Given the description of an element on the screen output the (x, y) to click on. 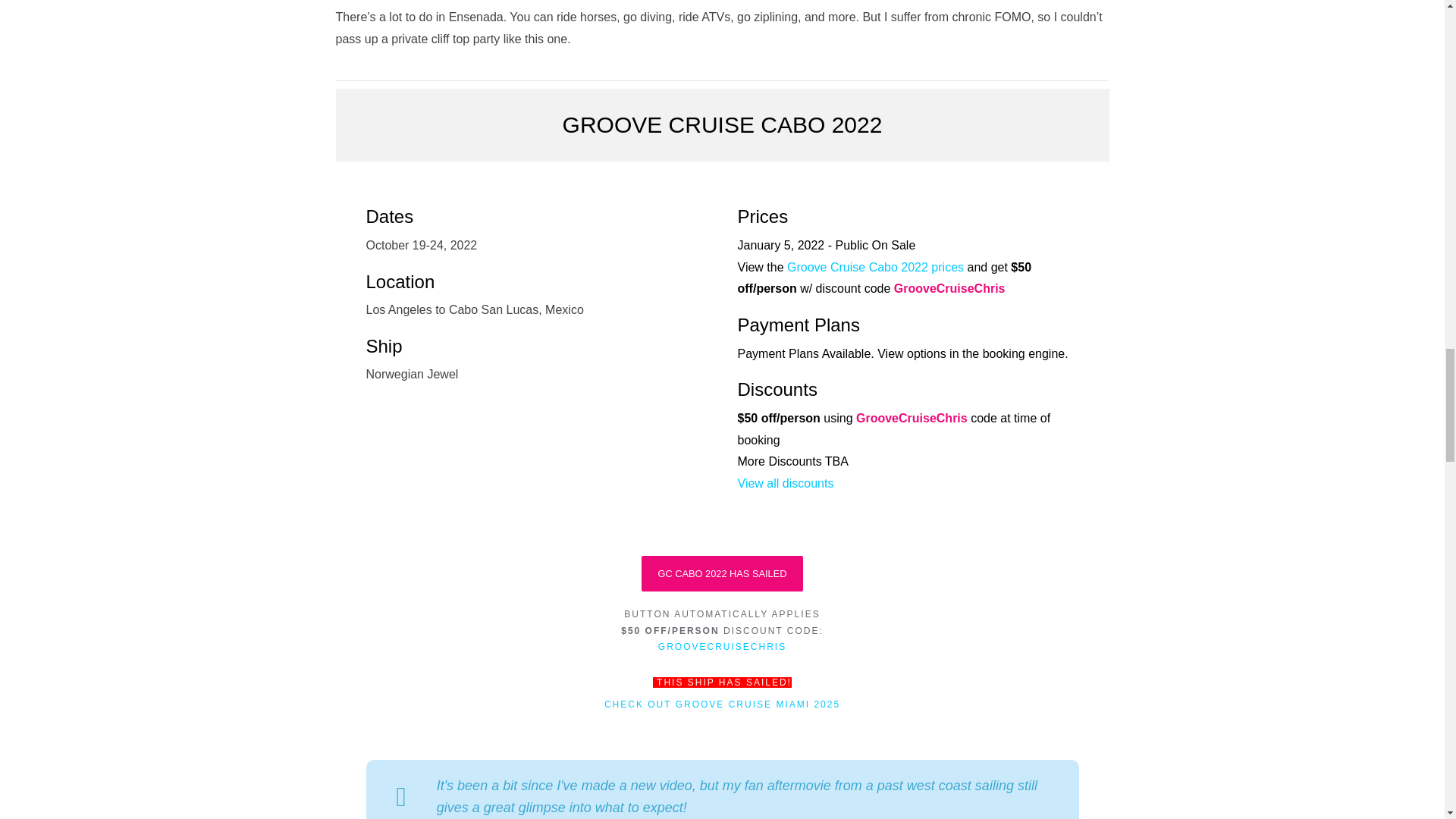
View all discounts (784, 482)
Groove Cruise Cabo 2022 prices (875, 267)
Groove Cruise Cabo 2022 (722, 124)
GROOVE CRUISE CABO 2022 (722, 124)
GC CABO 2022 HAS SAILED (722, 573)
GrooveCruiseChris (912, 418)
GrooveCruiseChris (949, 287)
